Given the description of an element on the screen output the (x, y) to click on. 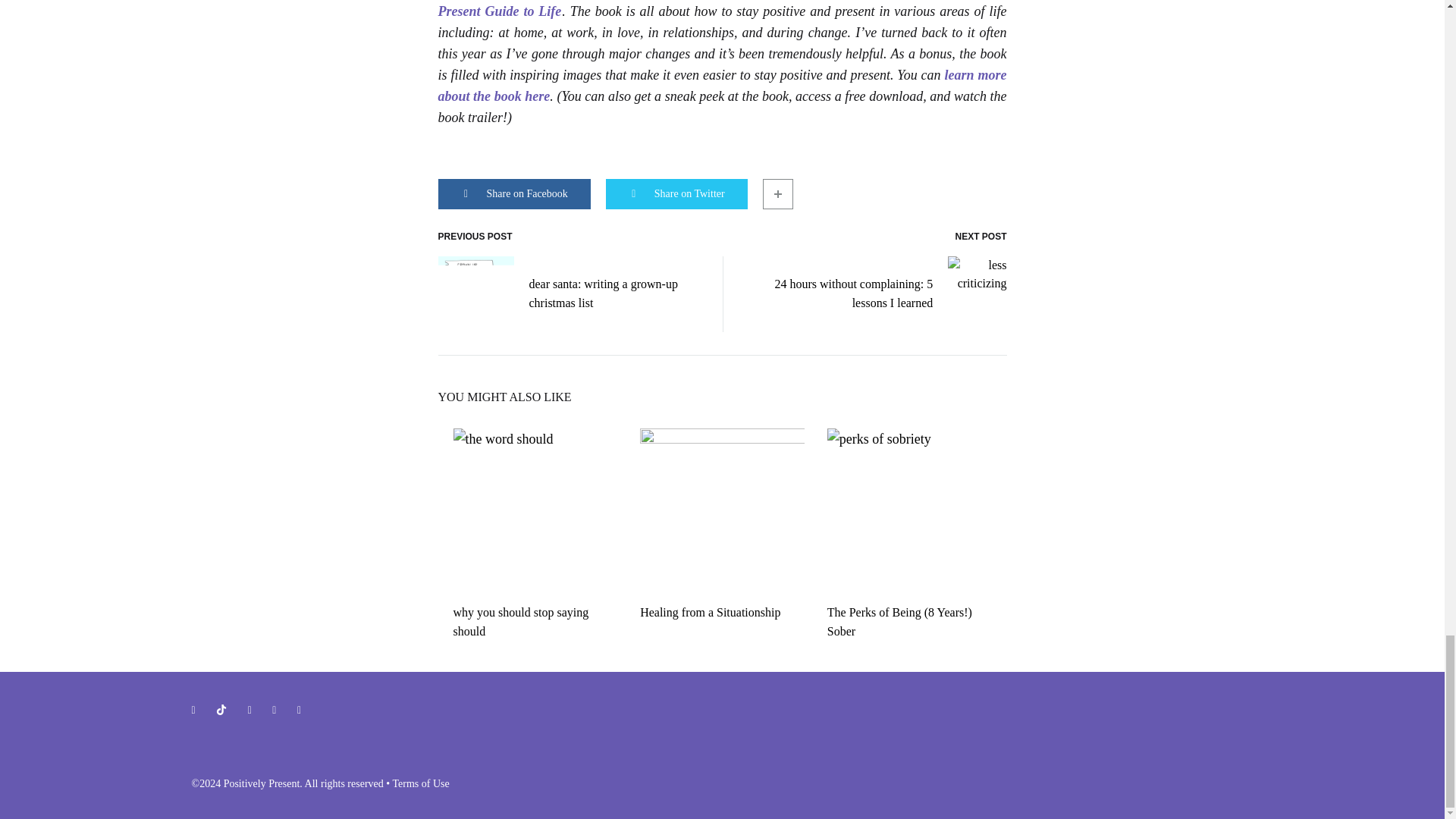
The Positively Present Guide to Life (668, 9)
why you should stop saying should (520, 622)
Share on Facebook (514, 194)
dear santa: writing a grown-up christmas list (569, 294)
24 hours without complaining: 5 lessons I learned (876, 294)
learn more about the book here (722, 85)
Healing from a Situationship (710, 612)
Share on Twitter (676, 194)
